Given the description of an element on the screen output the (x, y) to click on. 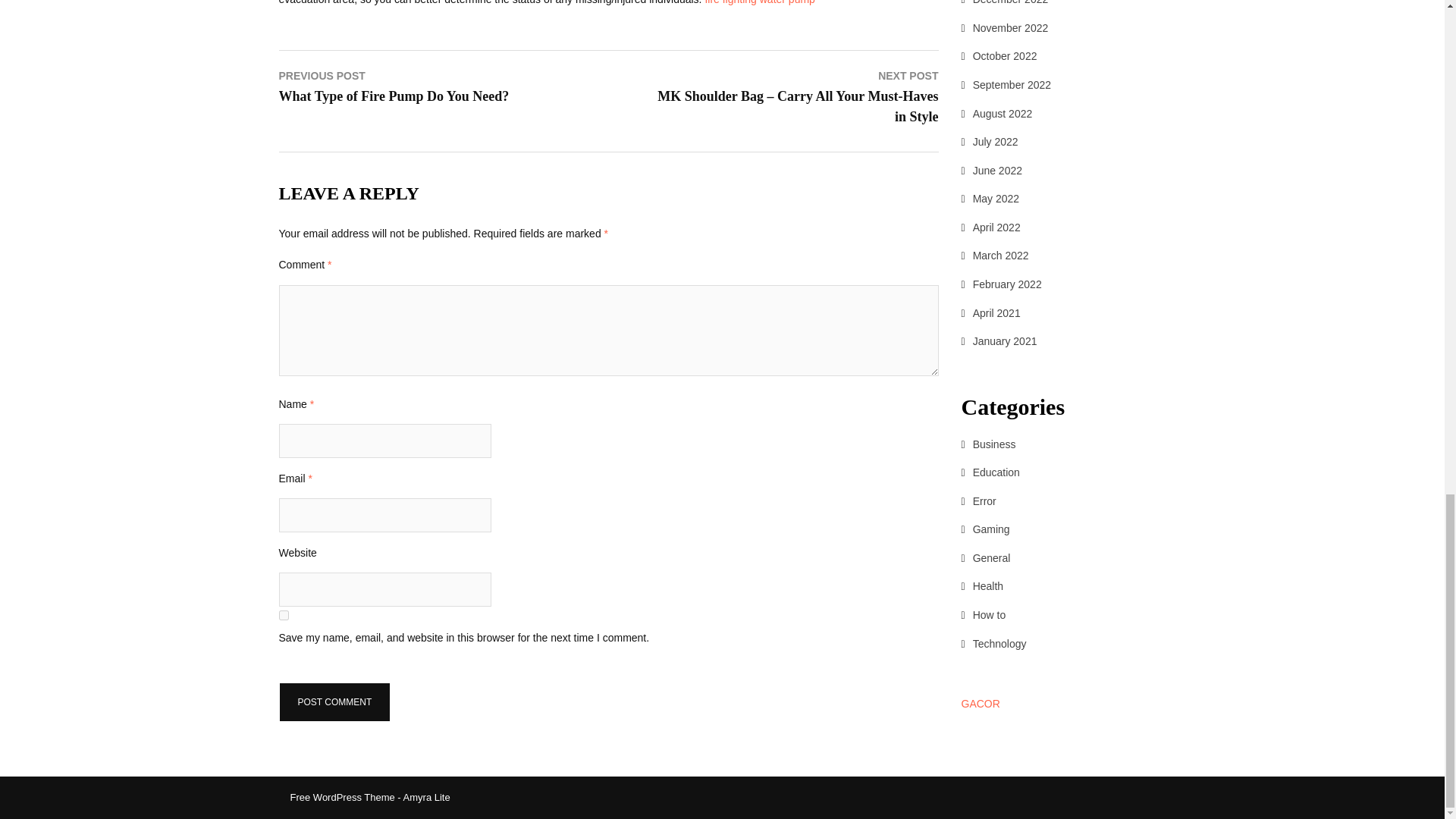
Post Comment (335, 701)
yes (283, 614)
fire fighting water pump (759, 2)
Post Comment (335, 701)
